Given the description of an element on the screen output the (x, y) to click on. 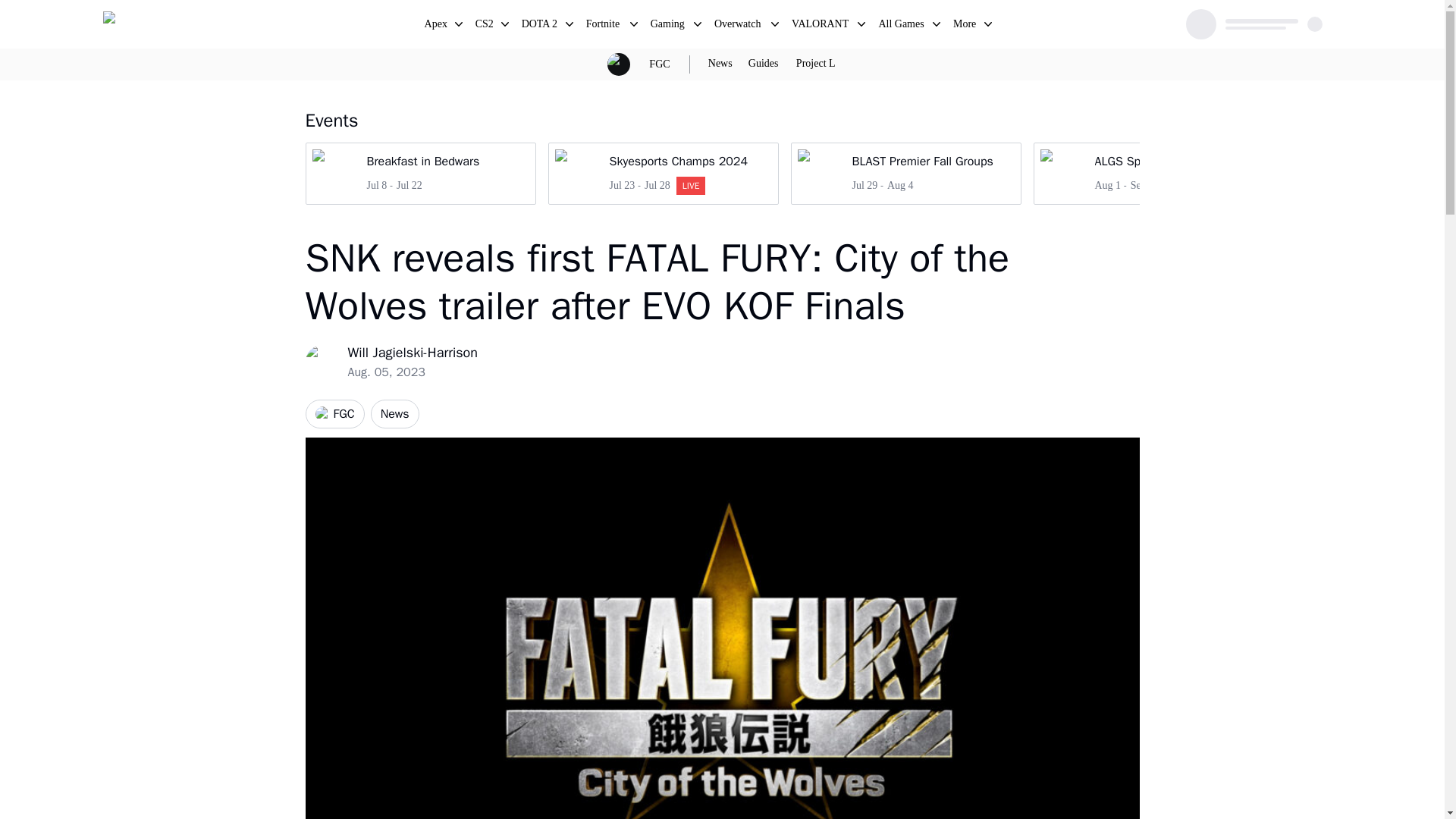
Apex (436, 25)
CS2 (485, 25)
Guides (763, 64)
Project L (1147, 173)
Overwatch (815, 64)
More (739, 25)
Fortnite (964, 25)
Fortnite (604, 25)
All Games (604, 25)
CS2 (905, 173)
Apex (901, 25)
